Given the description of an element on the screen output the (x, y) to click on. 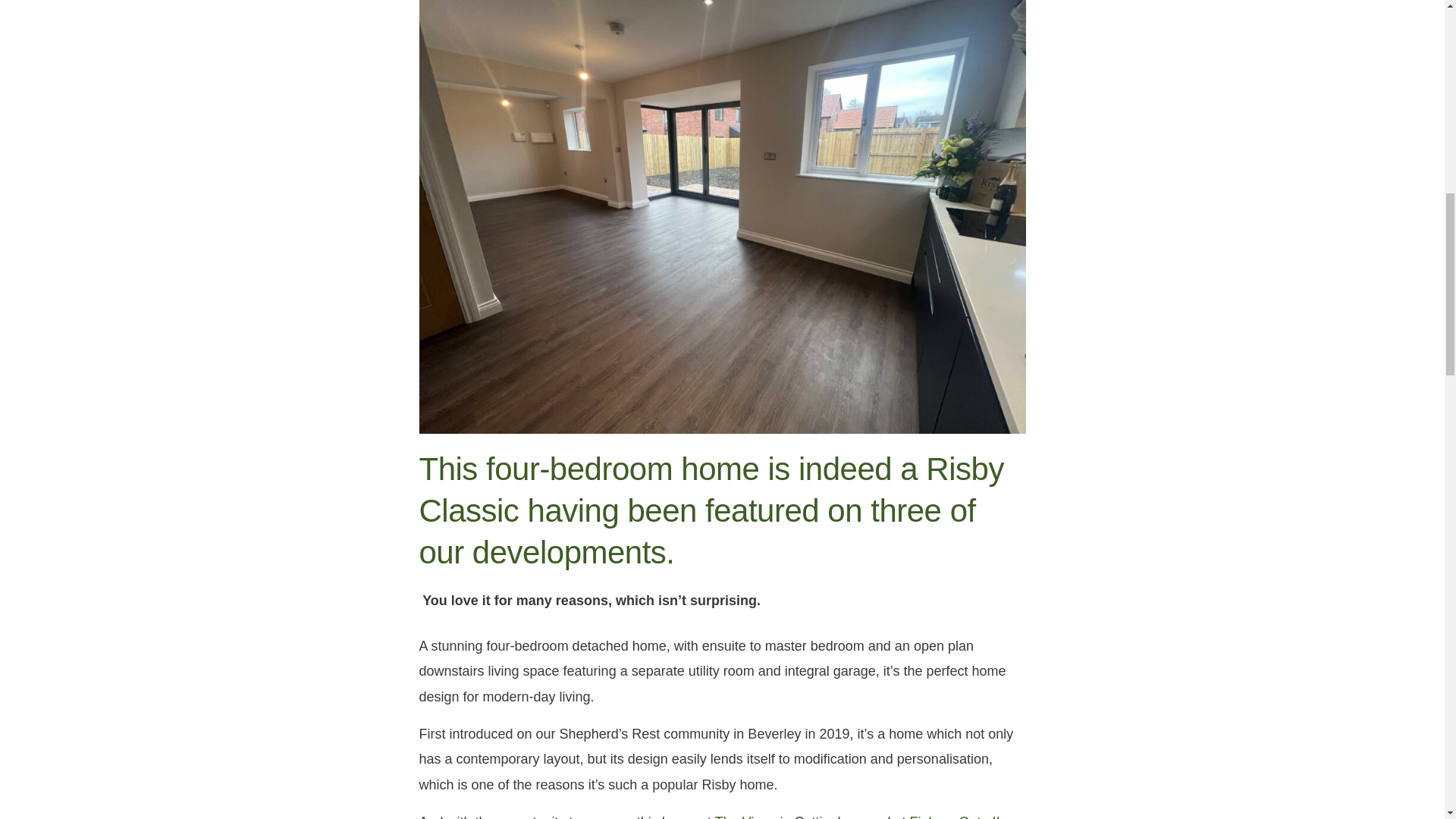
The Vines (745, 816)
Figham Gate II (955, 816)
